Given the description of an element on the screen output the (x, y) to click on. 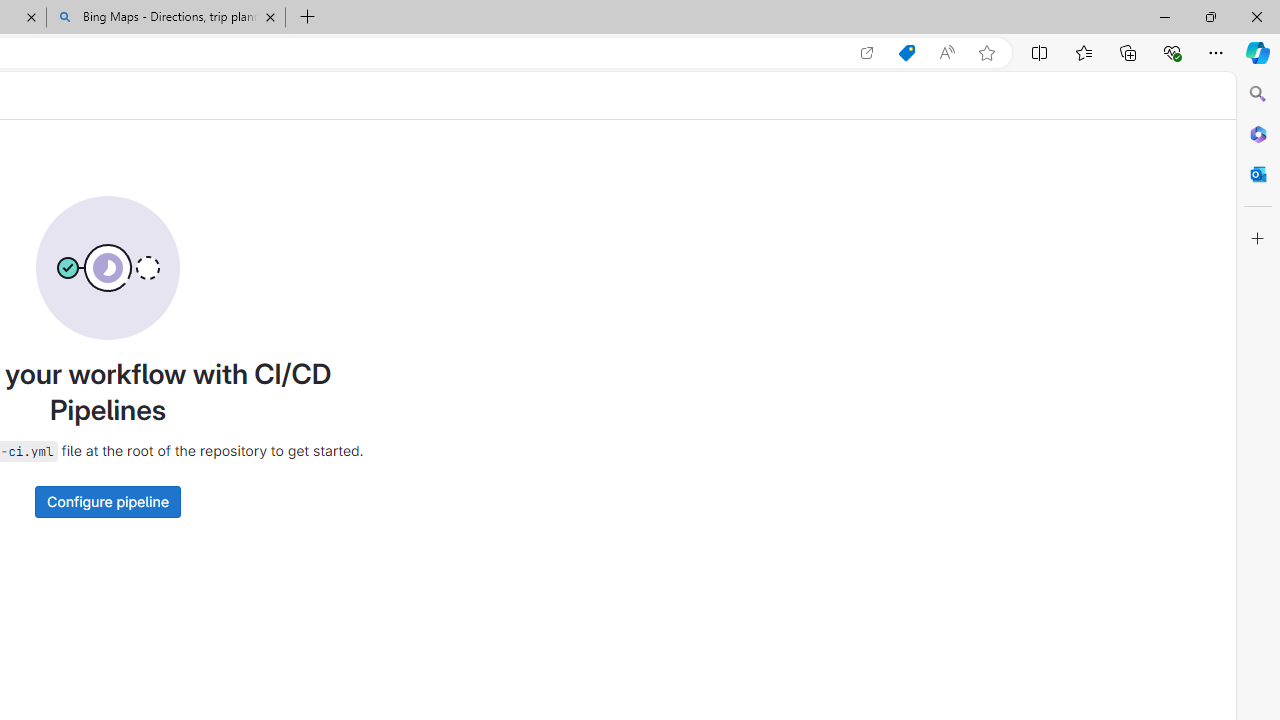
Configure pipeline (107, 501)
Open in app (867, 53)
